Given the description of an element on the screen output the (x, y) to click on. 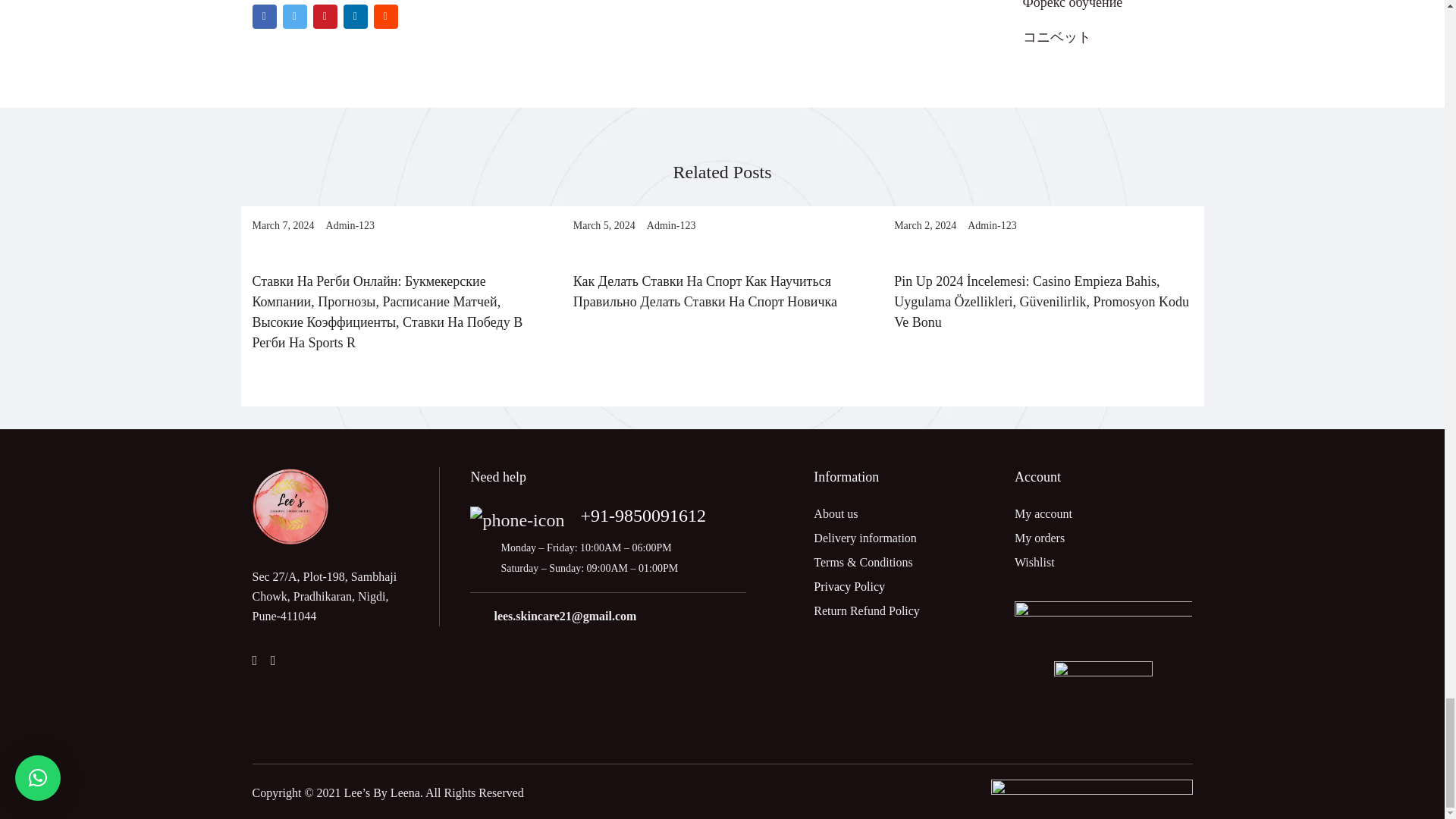
Posts by Admin-123 (670, 225)
Posts by Admin-123 (992, 225)
Posts by Admin-123 (350, 225)
